Given the description of an element on the screen output the (x, y) to click on. 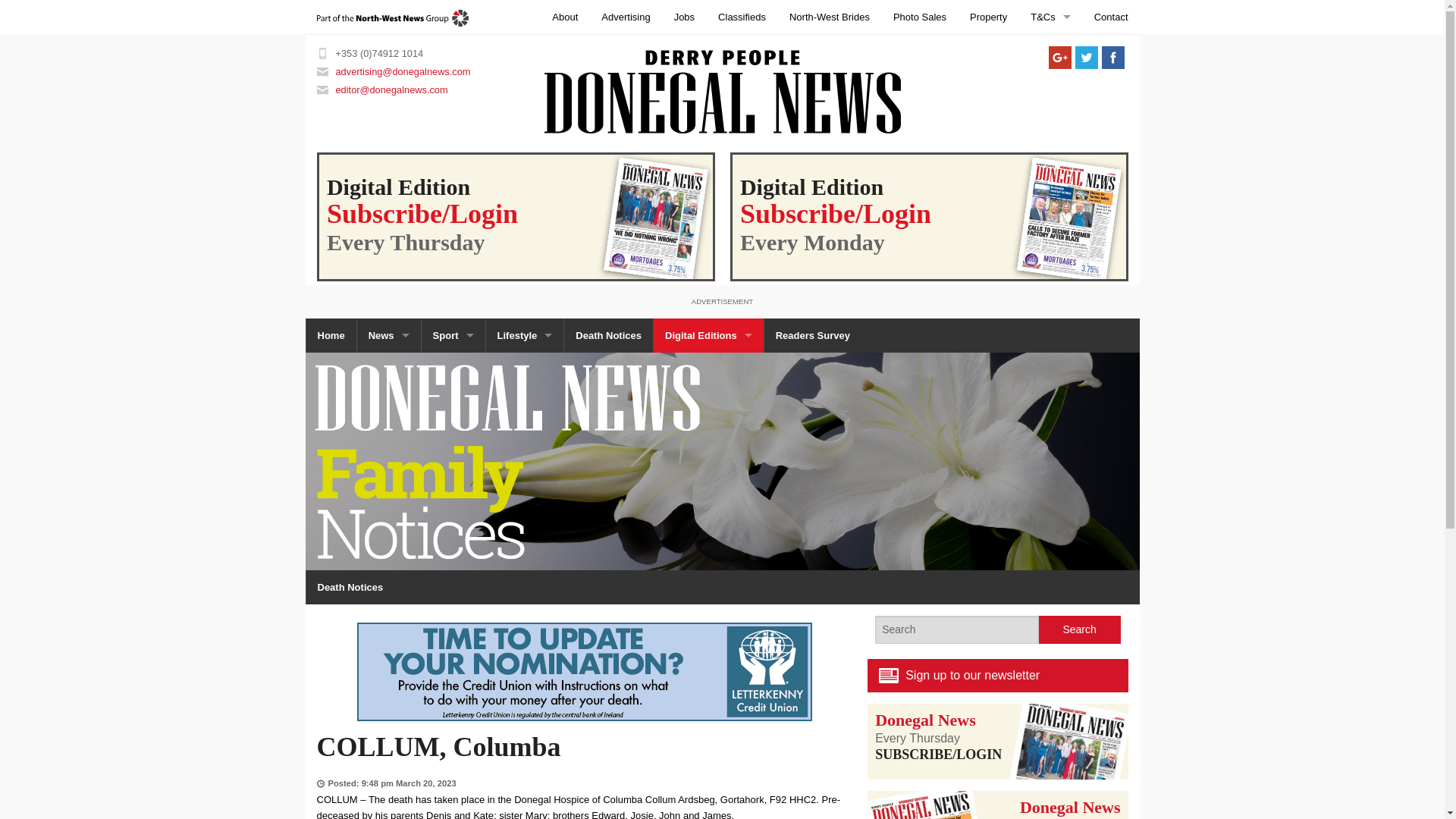
Search (1080, 629)
